Given the description of an element on the screen output the (x, y) to click on. 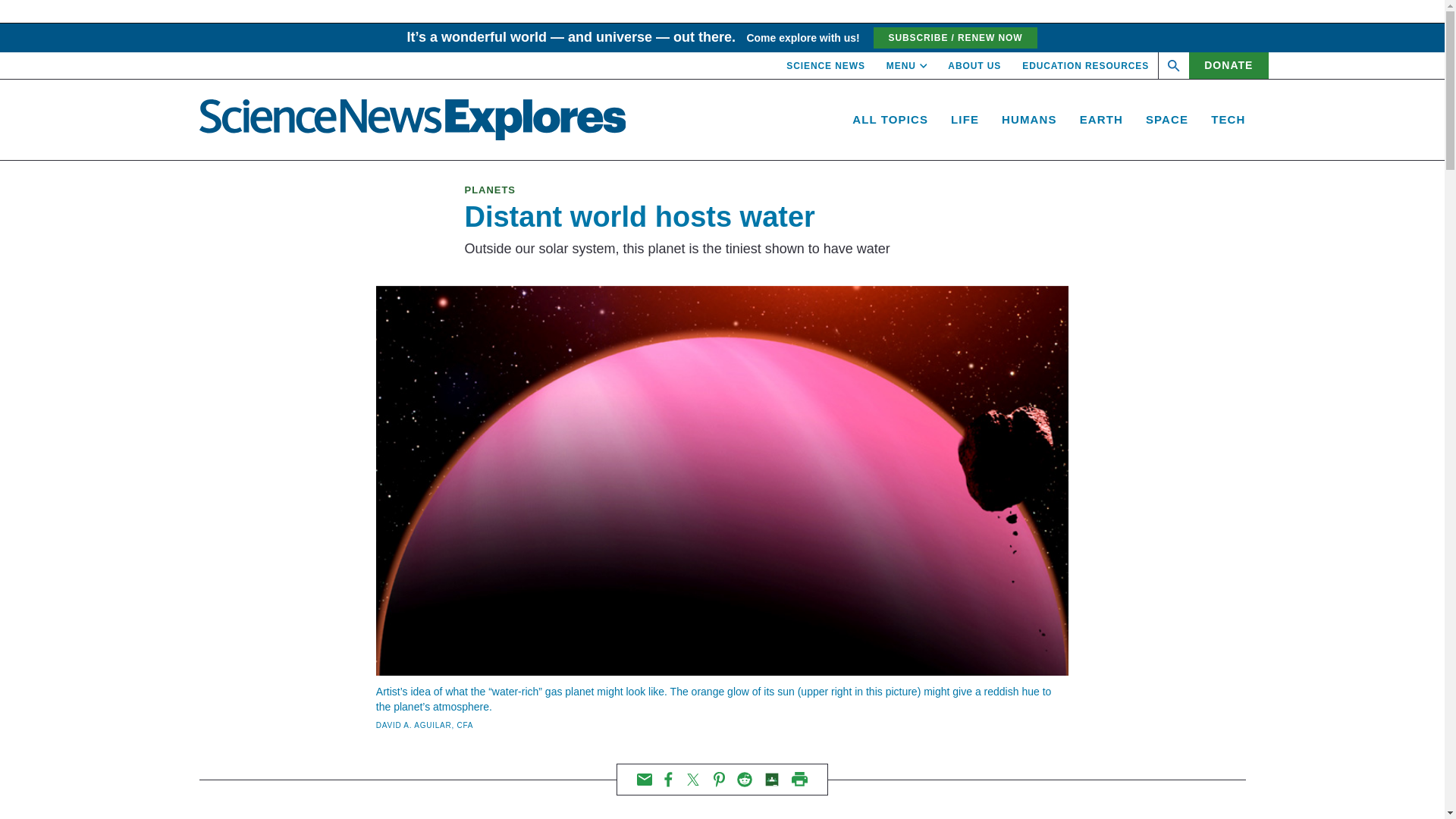
MENU (906, 65)
ALL TOPICS (889, 119)
DONATE (1228, 65)
EDUCATION RESOURCES (1085, 65)
ABOUT US (974, 65)
Share via email (644, 779)
SCIENCE NEWS (825, 65)
Science News Explores (412, 119)
Open search (1173, 65)
